Given the description of an element on the screen output the (x, y) to click on. 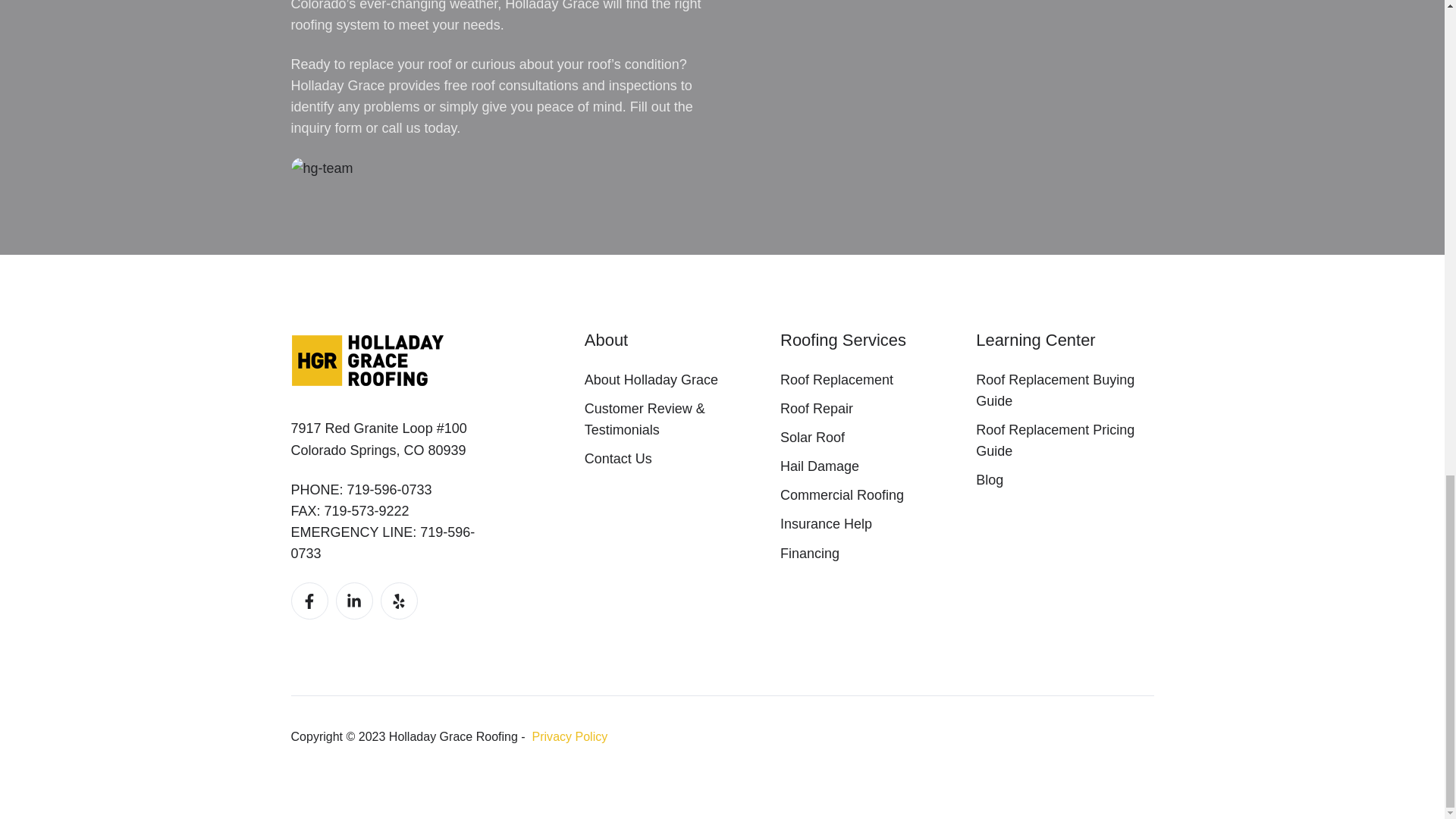
Privacy Policy  (570, 735)
holladay-grace-roofing (368, 360)
